Given the description of an element on the screen output the (x, y) to click on. 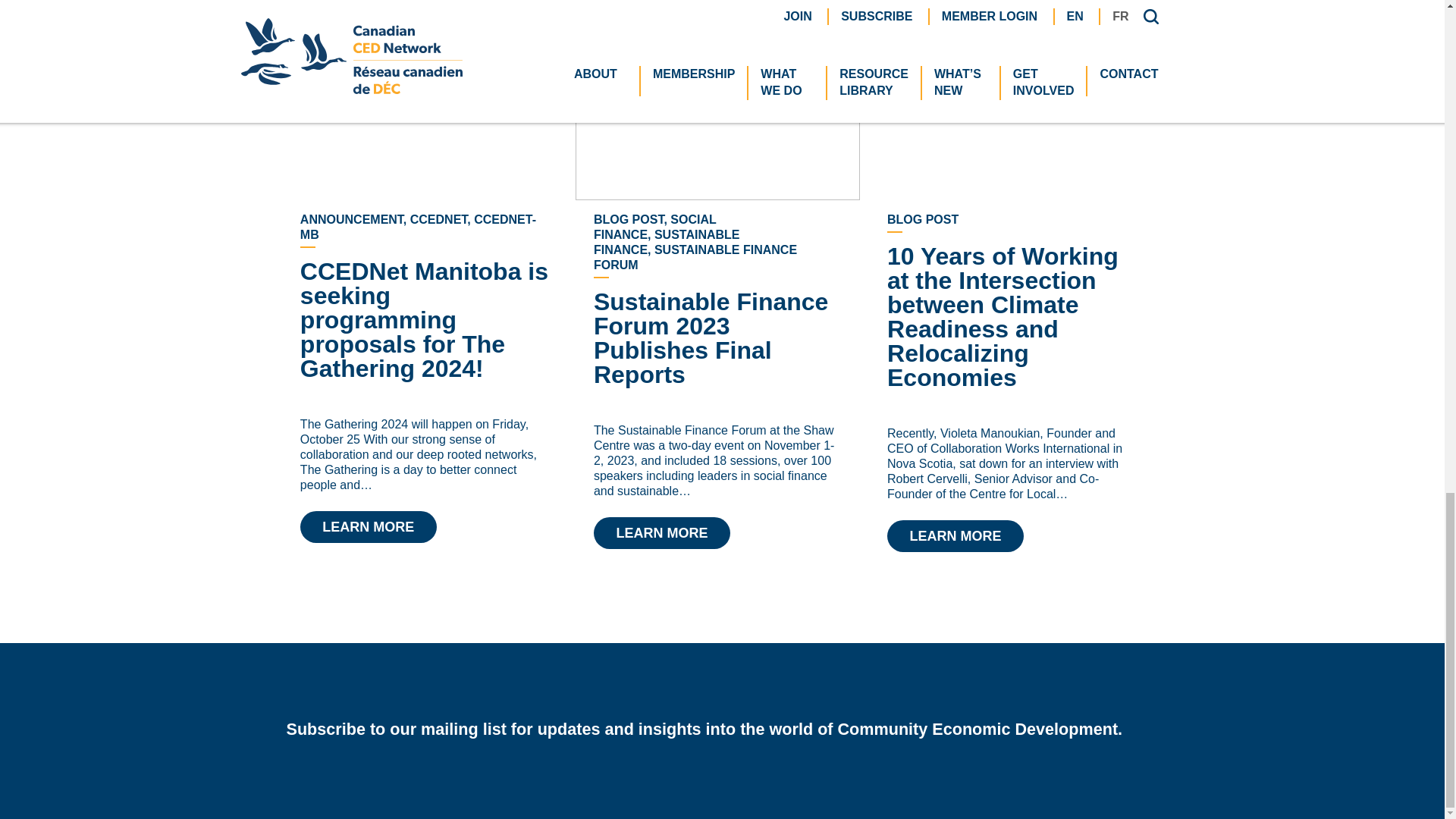
Sustainable Finance Forum 2023 Publishes Final Reports (717, 114)
Sustainable Finance Forum 2023 Publishes Final Reports (662, 531)
Sustainable Finance Forum 2023 Publishes Final Reports (711, 338)
